Given the description of an element on the screen output the (x, y) to click on. 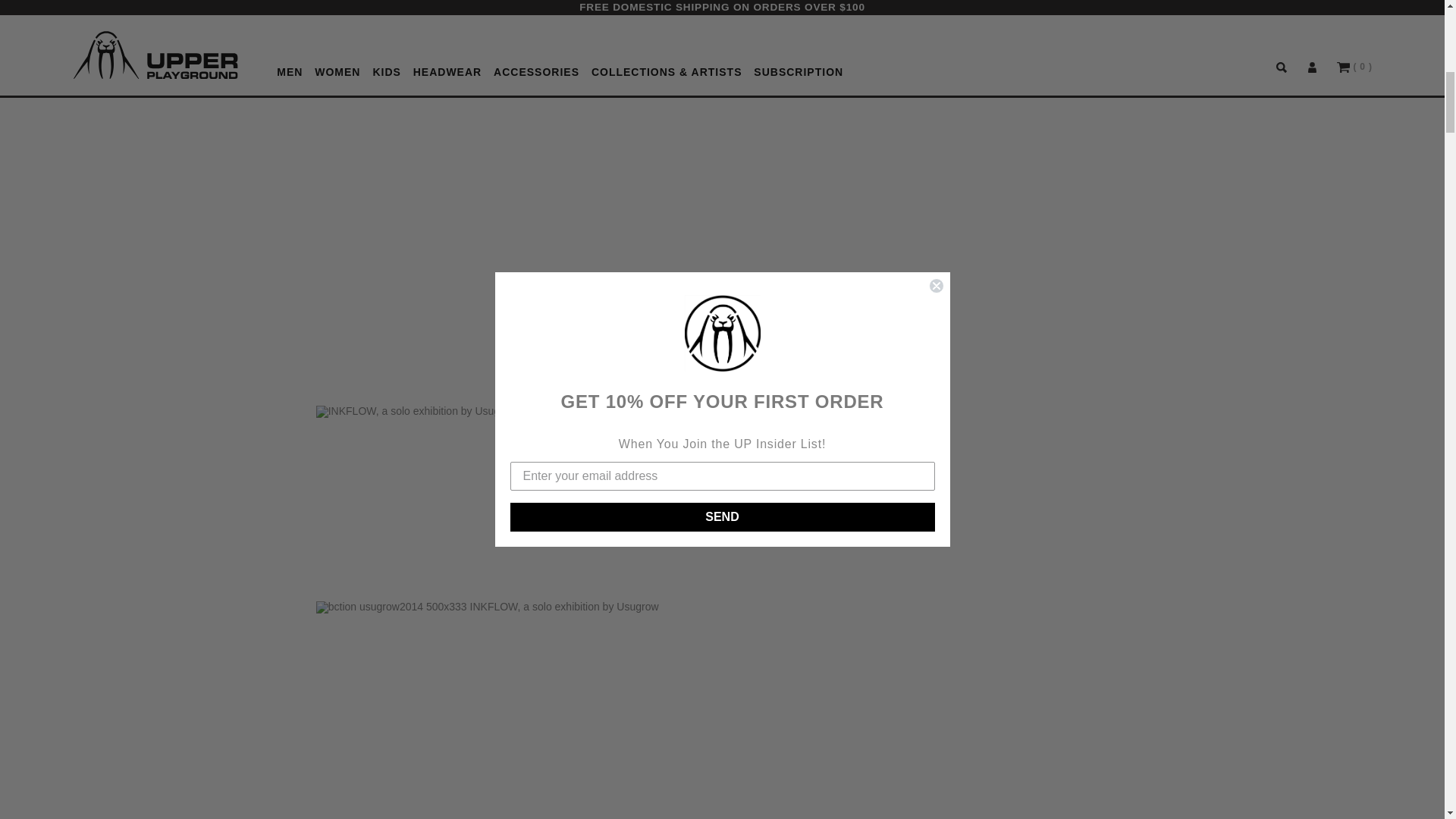
INKFLOW, a solo exhibition by Usugrow (505, 710)
INKFLOW, a solo exhibition by Usugrow (505, 491)
